Given the description of an element on the screen output the (x, y) to click on. 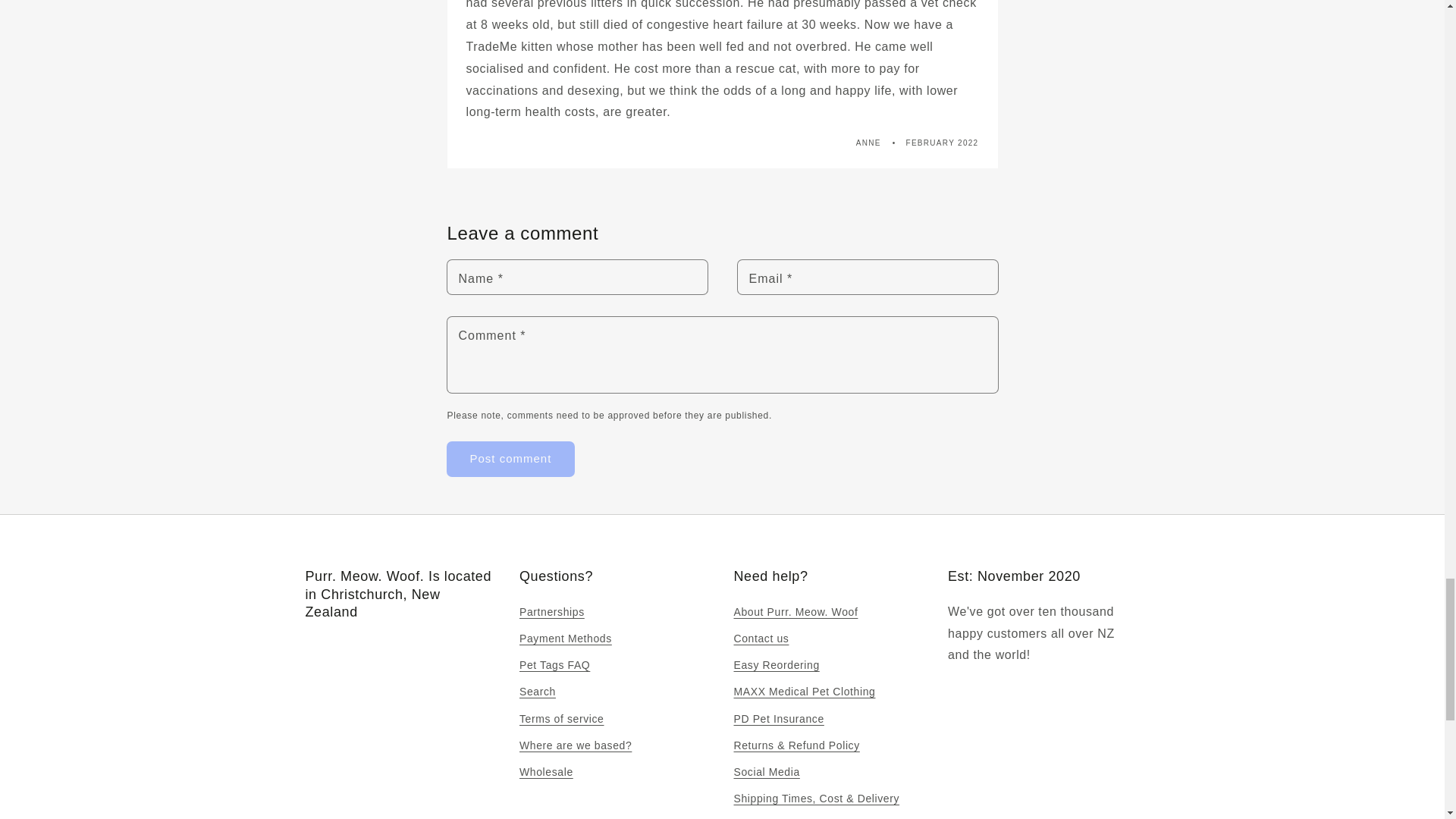
Post comment (510, 458)
